Given the description of an element on the screen output the (x, y) to click on. 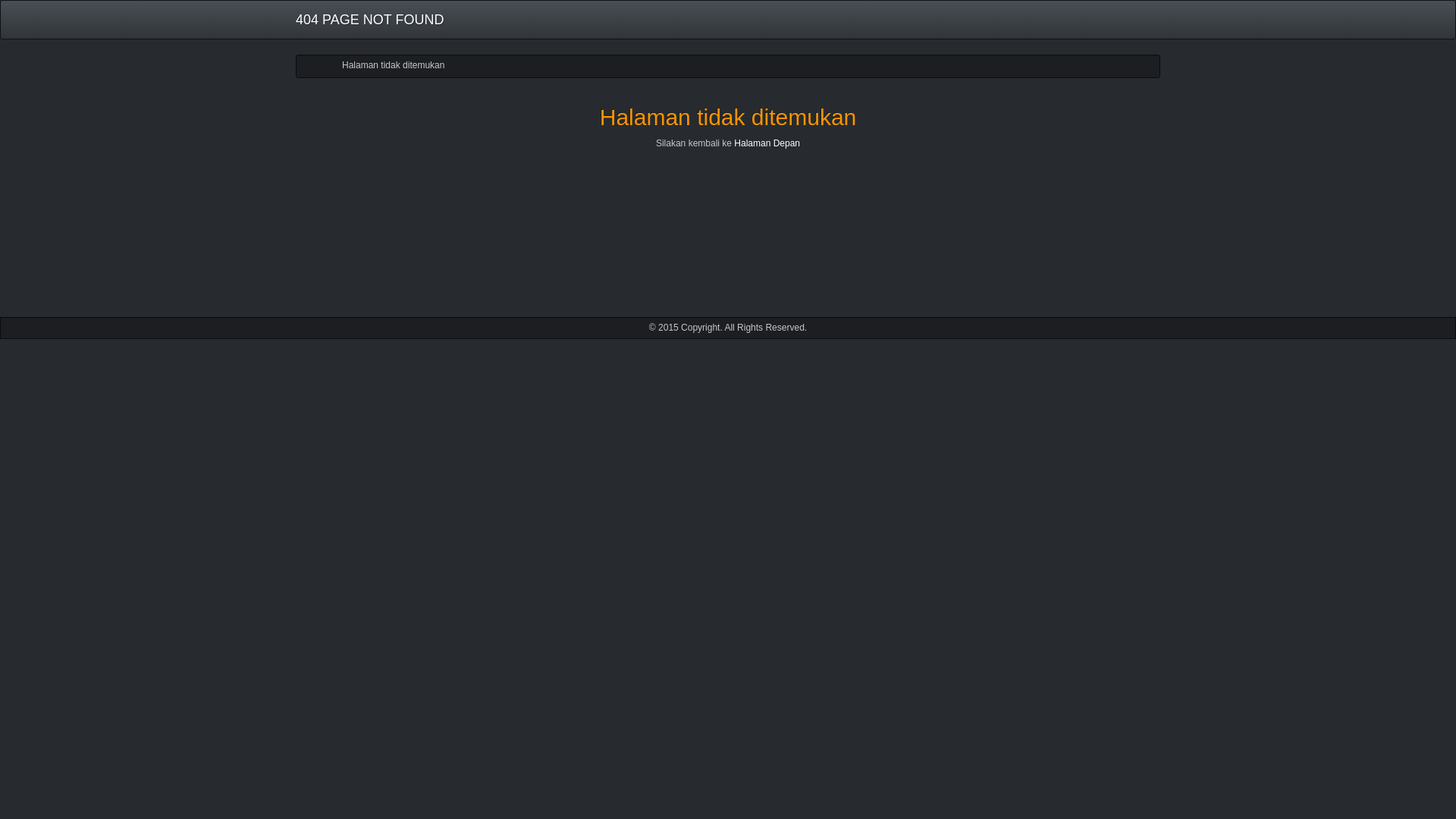
Halaman Depan Element type: text (767, 143)
404 PAGE NOT FOUND Element type: text (369, 19)
